Given the description of an element on the screen output the (x, y) to click on. 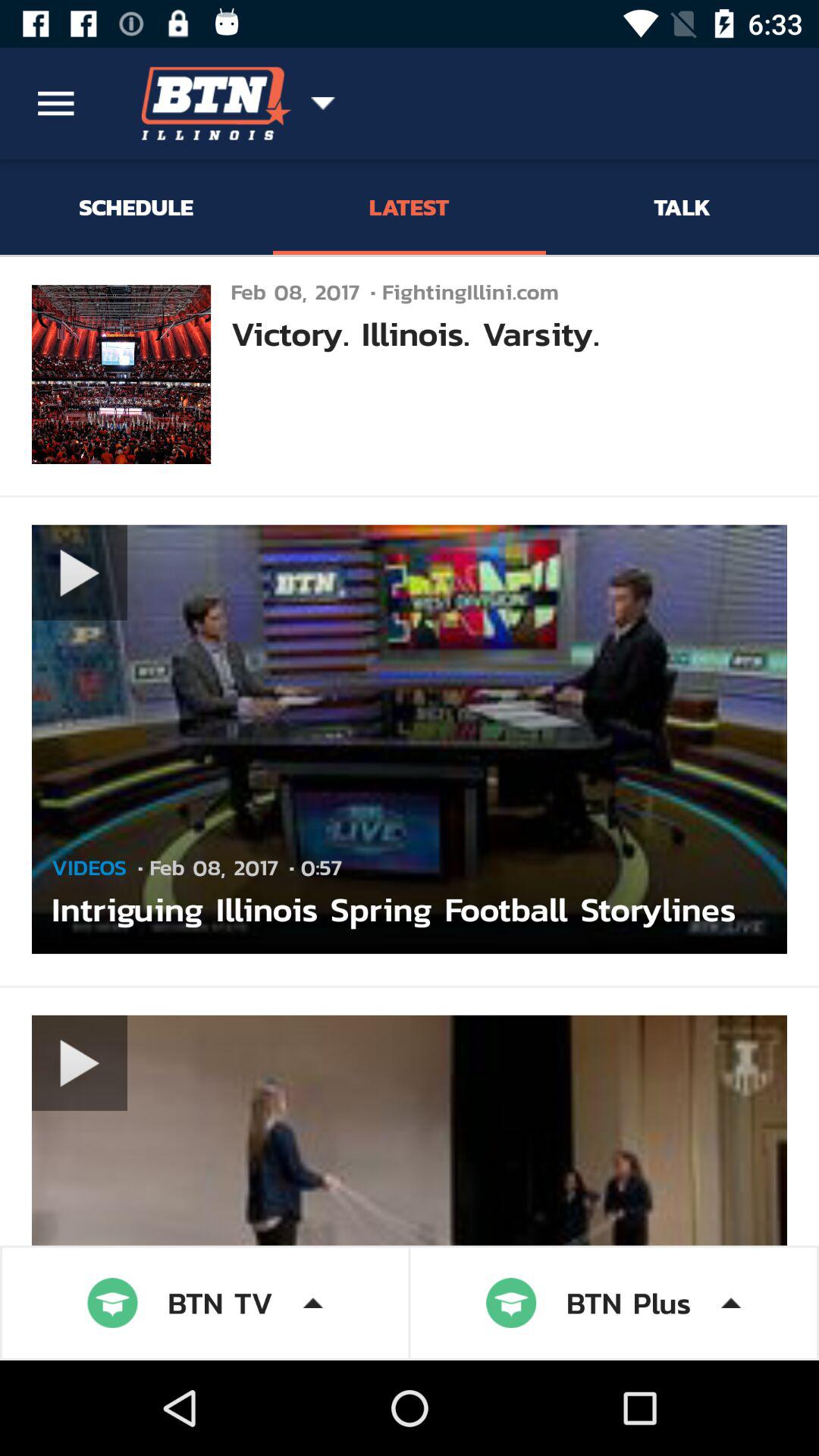
tap the item above schedule icon (55, 103)
